Given the description of an element on the screen output the (x, y) to click on. 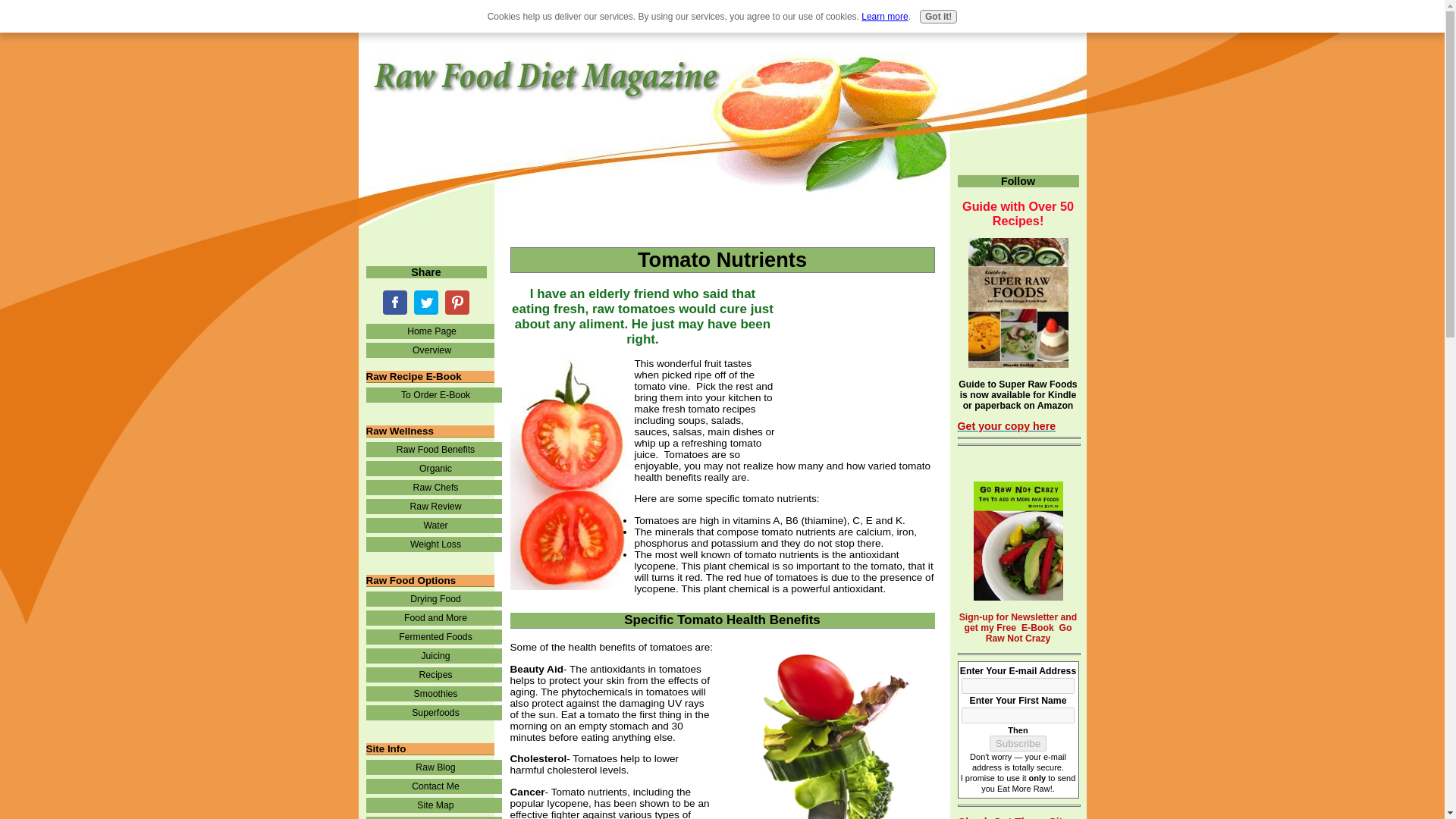
Learn more (884, 16)
Recipes (432, 674)
Overview (429, 350)
To Order E-Book (432, 394)
Subscribe (1018, 743)
Drying Food (432, 598)
Got it! (938, 16)
Site Map (432, 805)
Food and More (432, 617)
Fermented Foods (432, 636)
Raw Chefs (432, 487)
Weight Loss (432, 544)
Raw Blog (432, 767)
Raw Review (432, 506)
Disclaimer (432, 817)
